Given the description of an element on the screen output the (x, y) to click on. 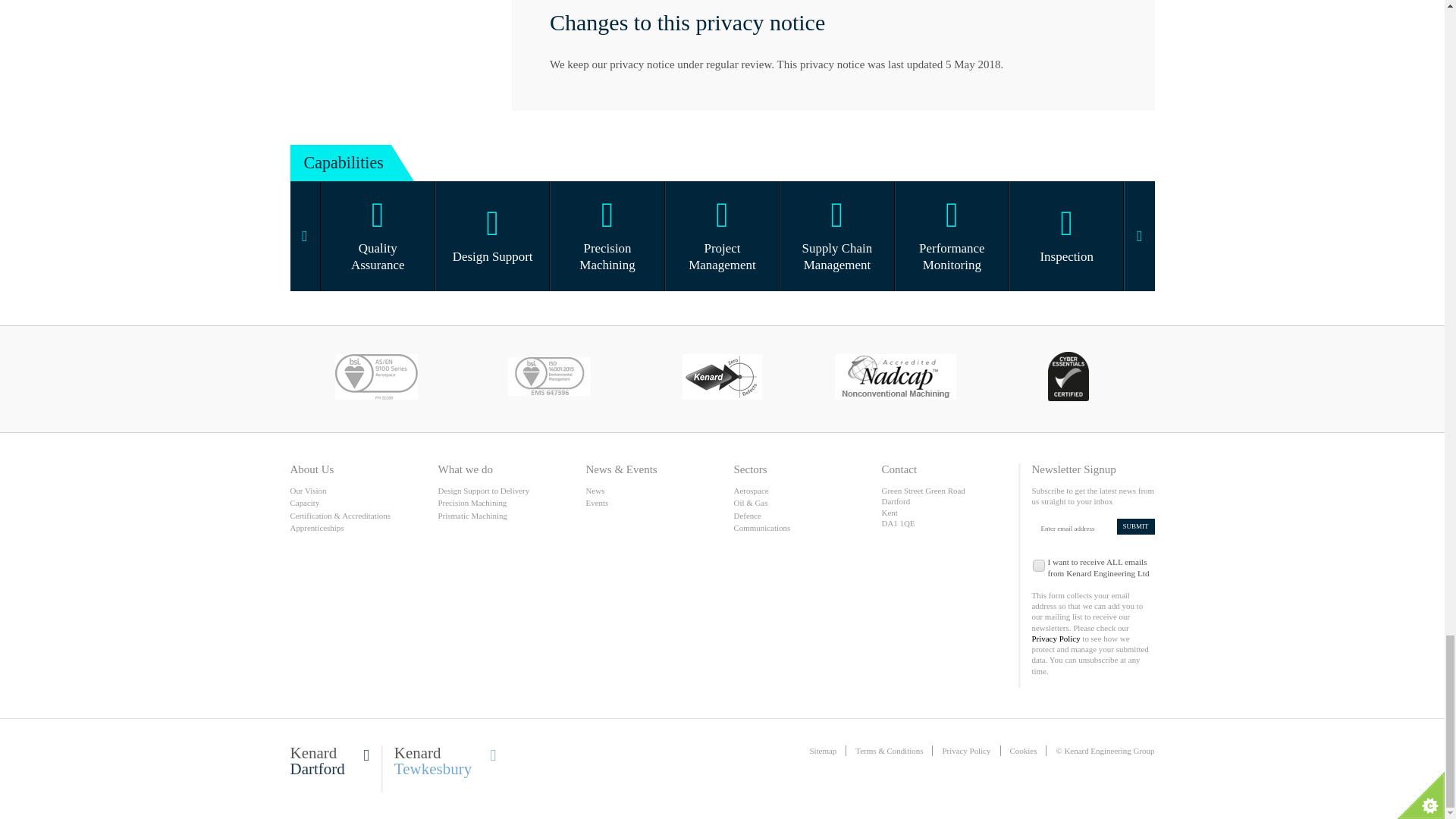
NADCAP nonconventional machining (894, 378)
Sitemap (822, 750)
AS9100 (376, 378)
Cookies (1023, 750)
Privacy Policy (966, 750)
Cyber Essentials (1067, 378)
ISO14001 (548, 378)
Kenard Zero Defects (721, 378)
